Given the description of an element on the screen output the (x, y) to click on. 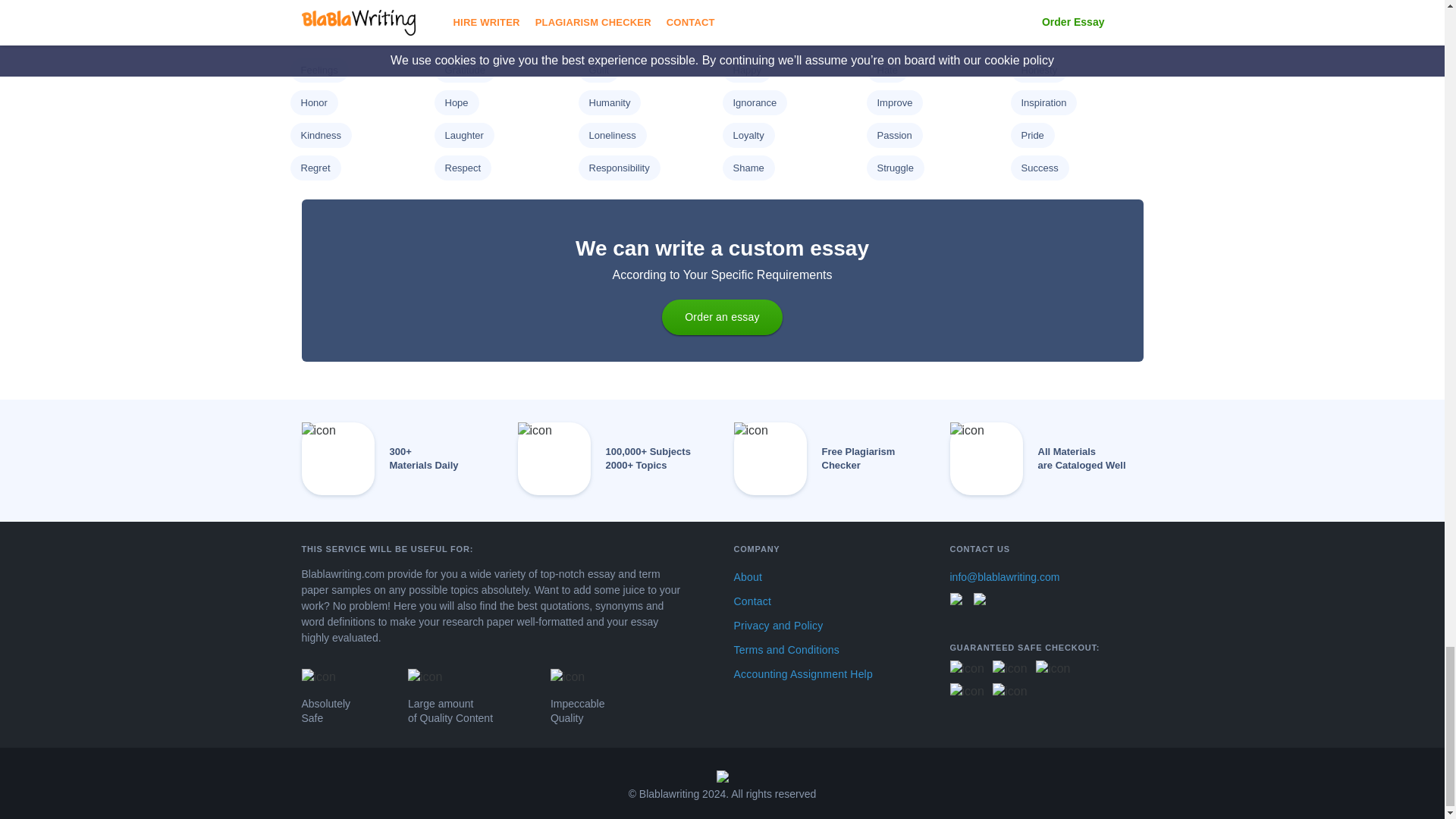
Adversity (319, 5)
Anger (601, 5)
Compassion (903, 5)
Courage (318, 37)
Betrayal (750, 5)
Ambition (463, 5)
Confidence (1045, 5)
